Given the description of an element on the screen output the (x, y) to click on. 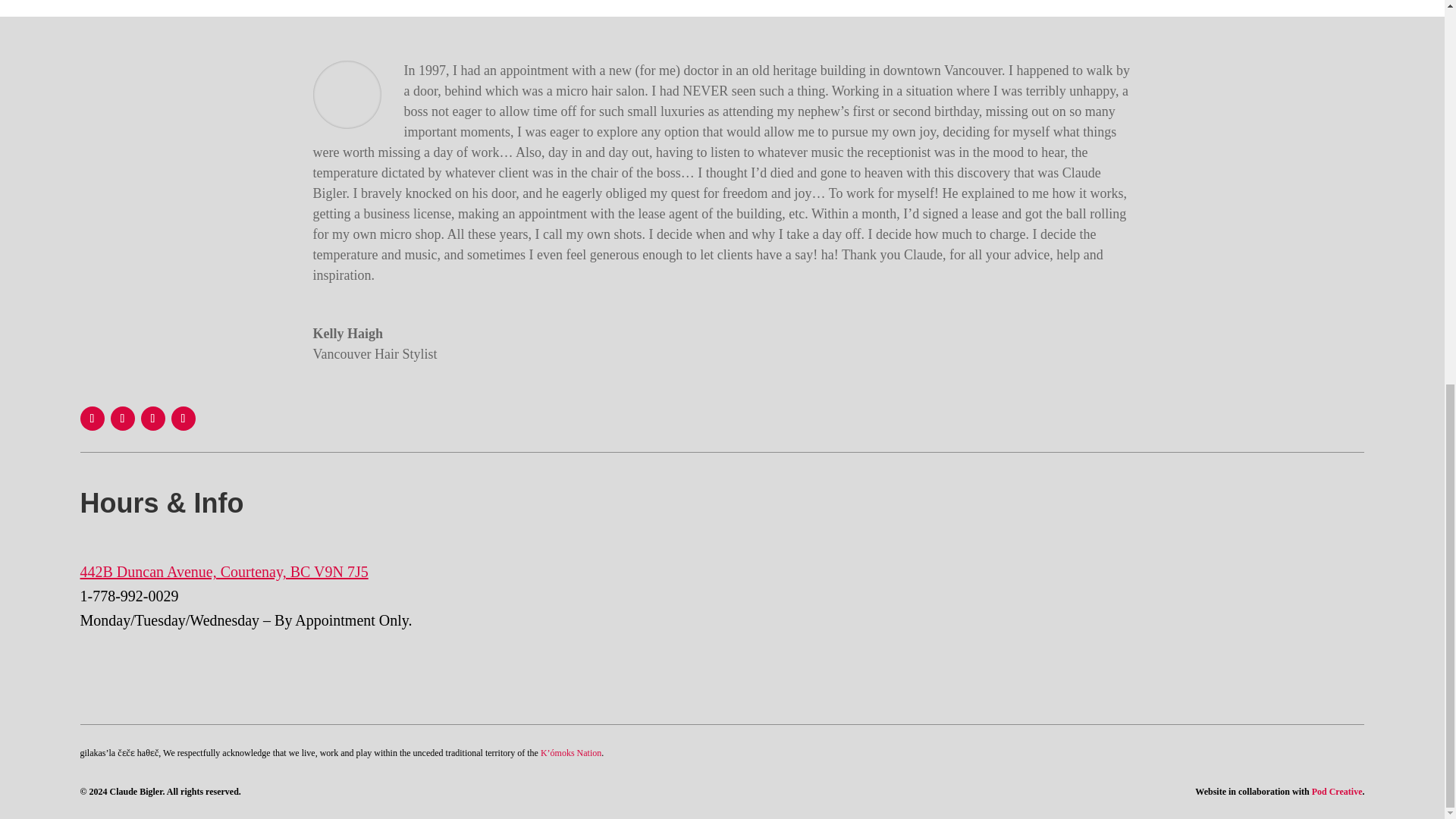
442B Duncan Avenue, Courtenay, BC V9N 7J5 (224, 571)
Pod Creative (1336, 791)
Follow on Youtube (183, 418)
Click to visit Pod Creative (1336, 791)
Follow on X (122, 418)
Follow on Facebook (92, 418)
Follow on LinkedIn (153, 418)
